Given the description of an element on the screen output the (x, y) to click on. 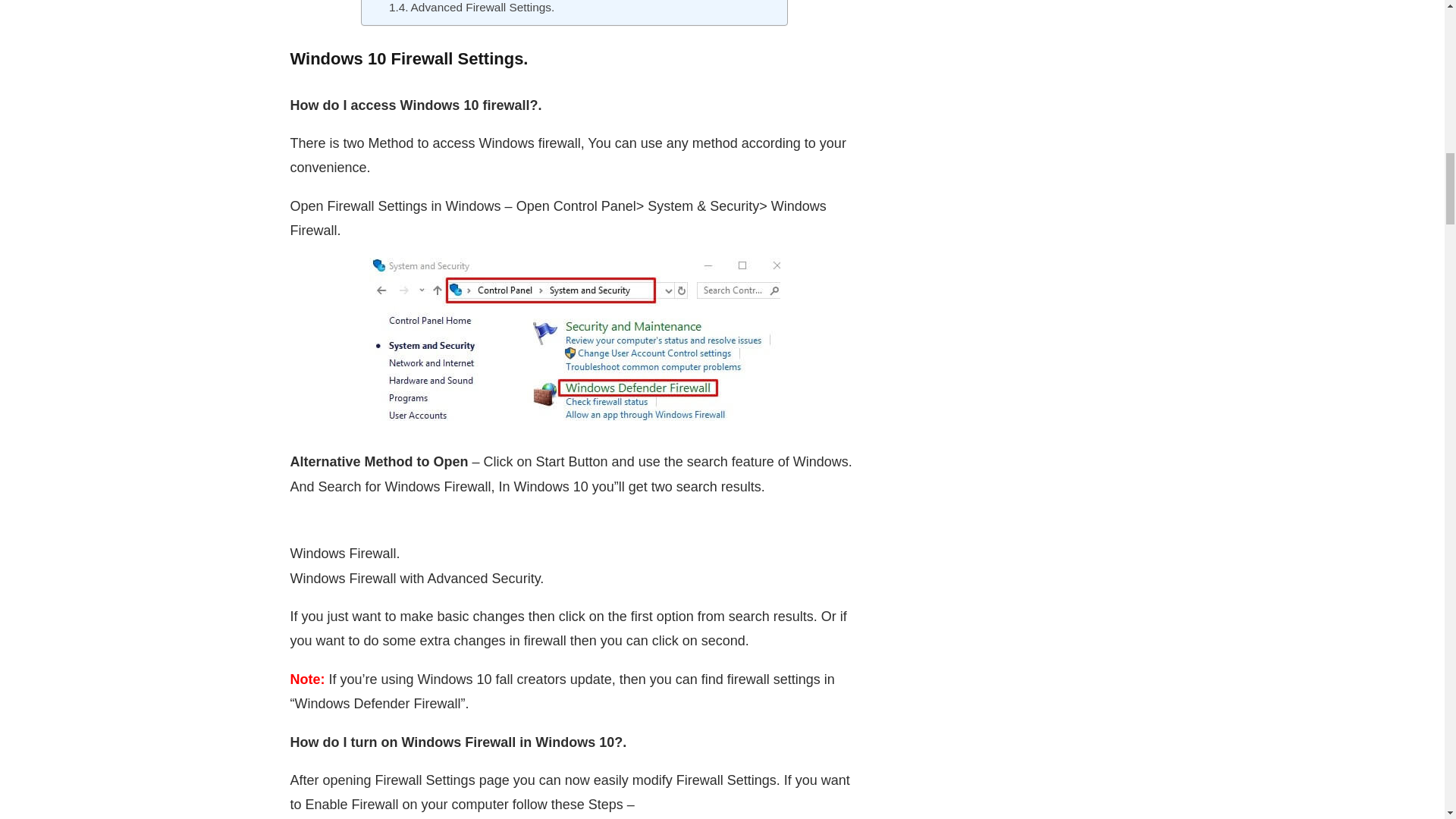
Advanced Firewall Settings. (471, 8)
Advanced Firewall Settings. (471, 8)
